Given the description of an element on the screen output the (x, y) to click on. 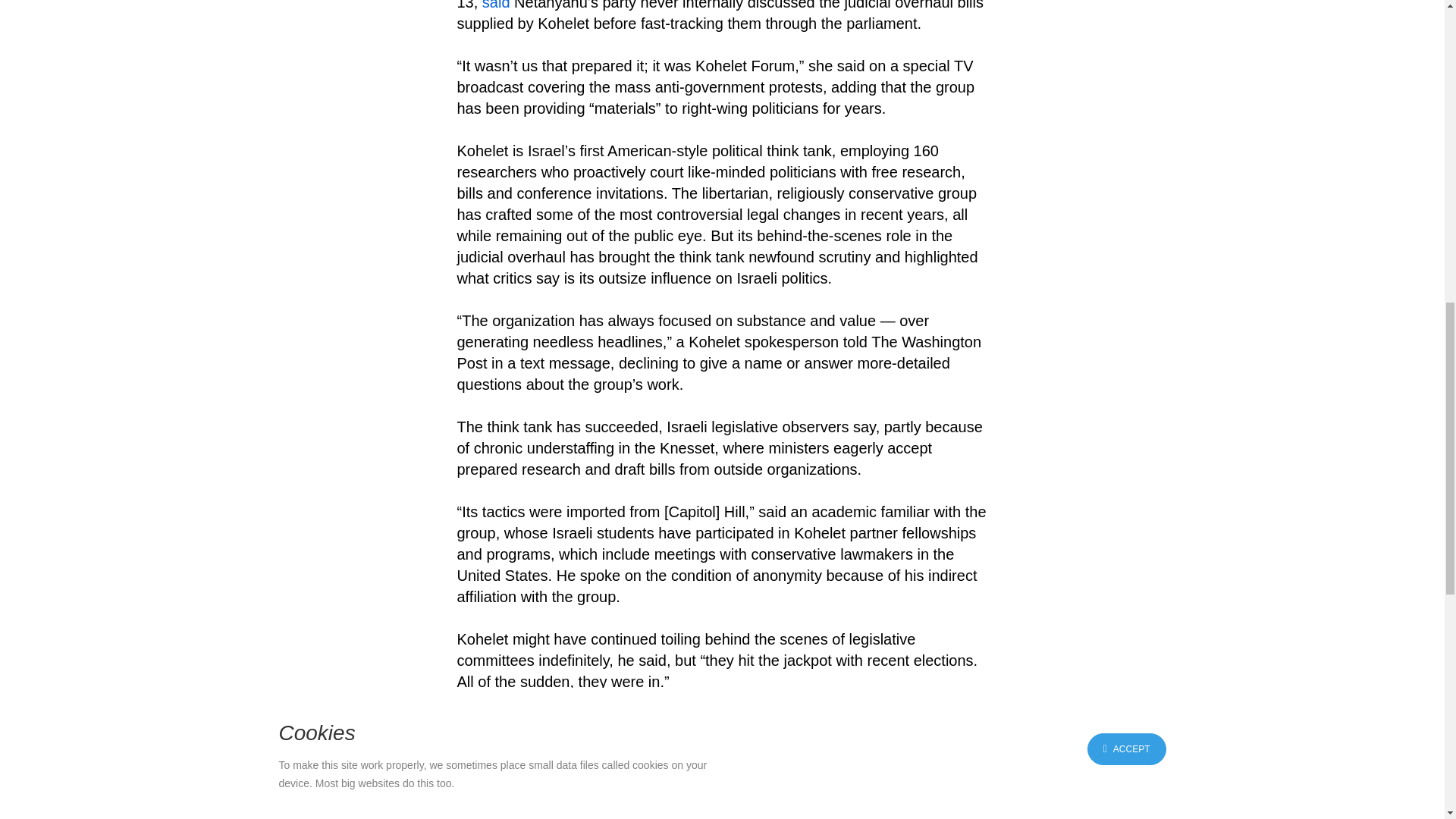
here (710, 787)
said (496, 5)
